Given the description of an element on the screen output the (x, y) to click on. 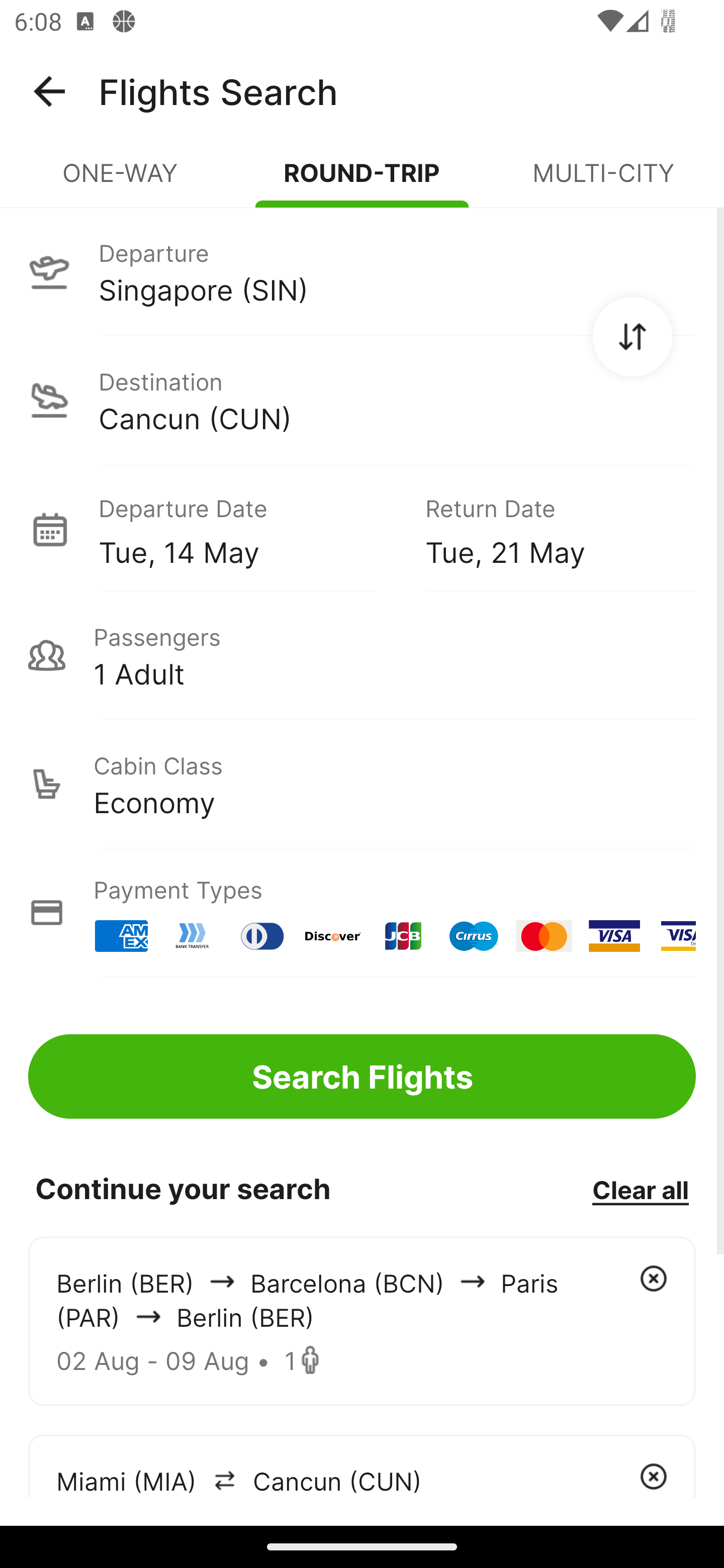
ONE-WAY (120, 180)
ROUND-TRIP (361, 180)
MULTI-CITY (603, 180)
Departure Singapore (SIN) (362, 270)
Destination Cancun (CUN) (362, 400)
Departure Date Tue, 14 May (247, 528)
Return Date Tue, 21 May (546, 528)
Passengers 1 Adult (362, 655)
Cabin Class Economy (362, 783)
Payment Types (362, 912)
Search Flights (361, 1075)
Clear all (640, 1189)
Miami (MIA)  arrowIcon  Cancun (CUN) (361, 1465)
